Given the description of an element on the screen output the (x, y) to click on. 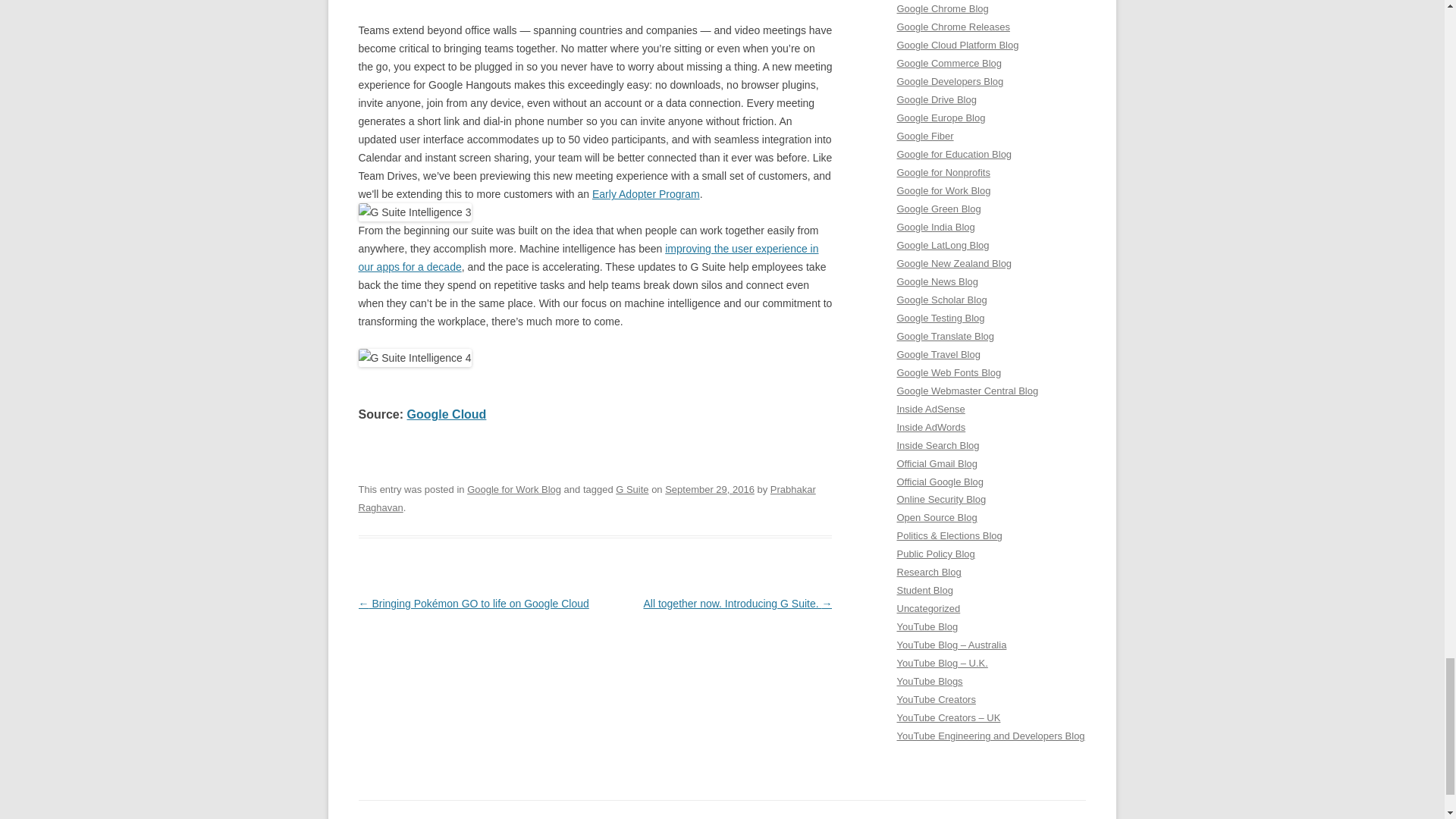
September 29, 2016 (709, 489)
improving the user experience in our apps for a decade (588, 257)
5:00 pm (709, 489)
View all posts by Prabhakar Raghavan (586, 498)
Google for Work Blog (513, 489)
Google Cloud (446, 413)
G Suite (631, 489)
Prabhakar Raghavan (586, 498)
Early Adopter Program (646, 193)
